Given the description of an element on the screen output the (x, y) to click on. 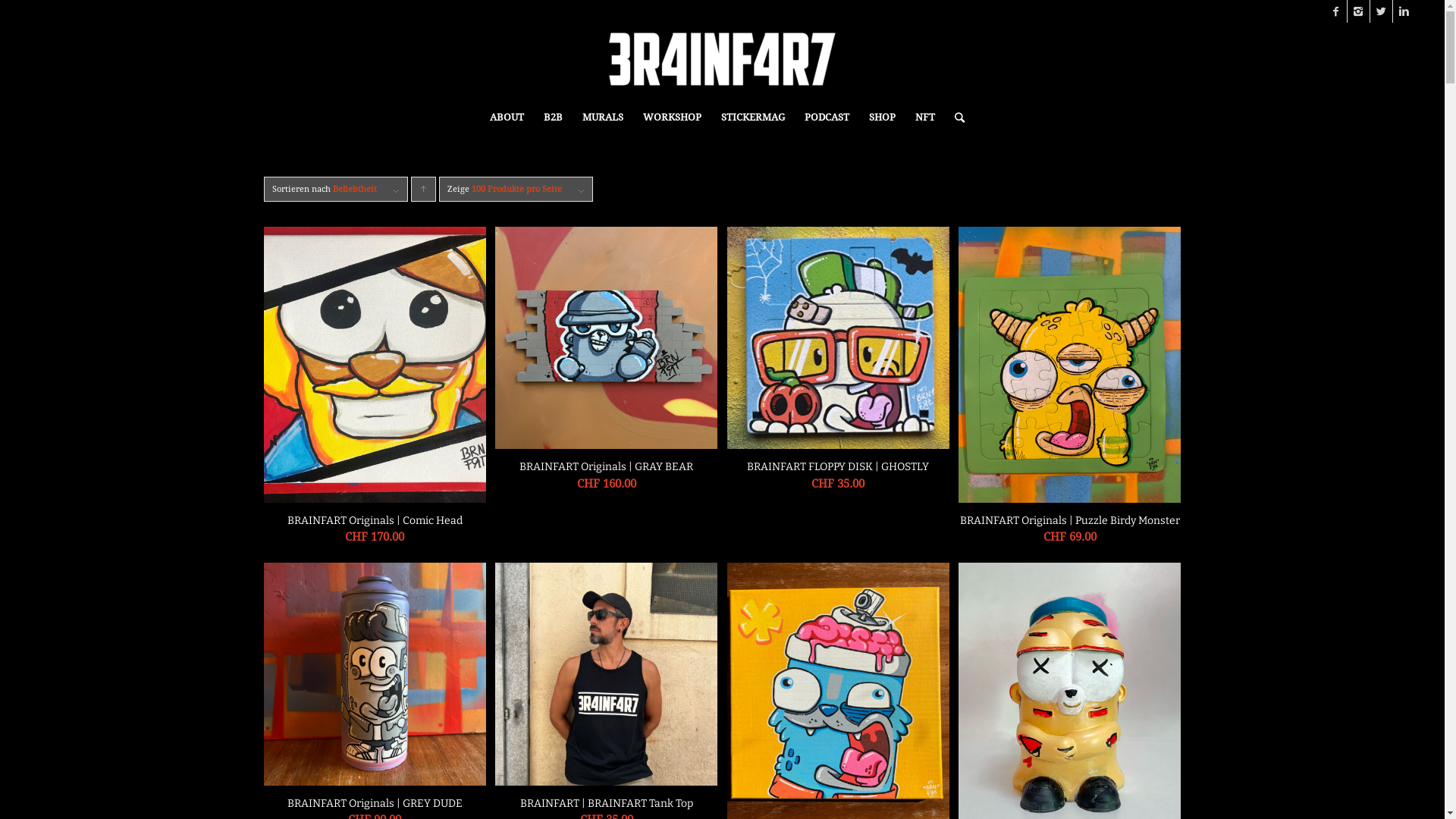
B2B Element type: text (552, 117)
ABOUT Element type: text (506, 117)
BRAINFART FLOPPY DISK | GHOSTLY
CHF 35.00 Element type: text (838, 363)
Instagram Element type: hover (1358, 11)
BRAINFART Originals | Comic Head
CHF 170.00 Element type: text (374, 389)
NFT Element type: text (924, 117)
PODCAST Element type: text (826, 117)
WORKSHOP Element type: text (672, 117)
SHOP Element type: text (882, 117)
Twitter Element type: hover (1381, 11)
STICKERMAG Element type: text (752, 117)
BRAINFART Originals | Puzzle Birdy Monster
CHF 69.00 Element type: text (1069, 389)
Facebook Element type: hover (1335, 11)
BRAINFART Originals | GRAY BEAR
CHF 160.00 Element type: text (606, 363)
MURALS Element type: text (602, 117)
Linkedin Element type: hover (1404, 11)
